Given the description of an element on the screen output the (x, y) to click on. 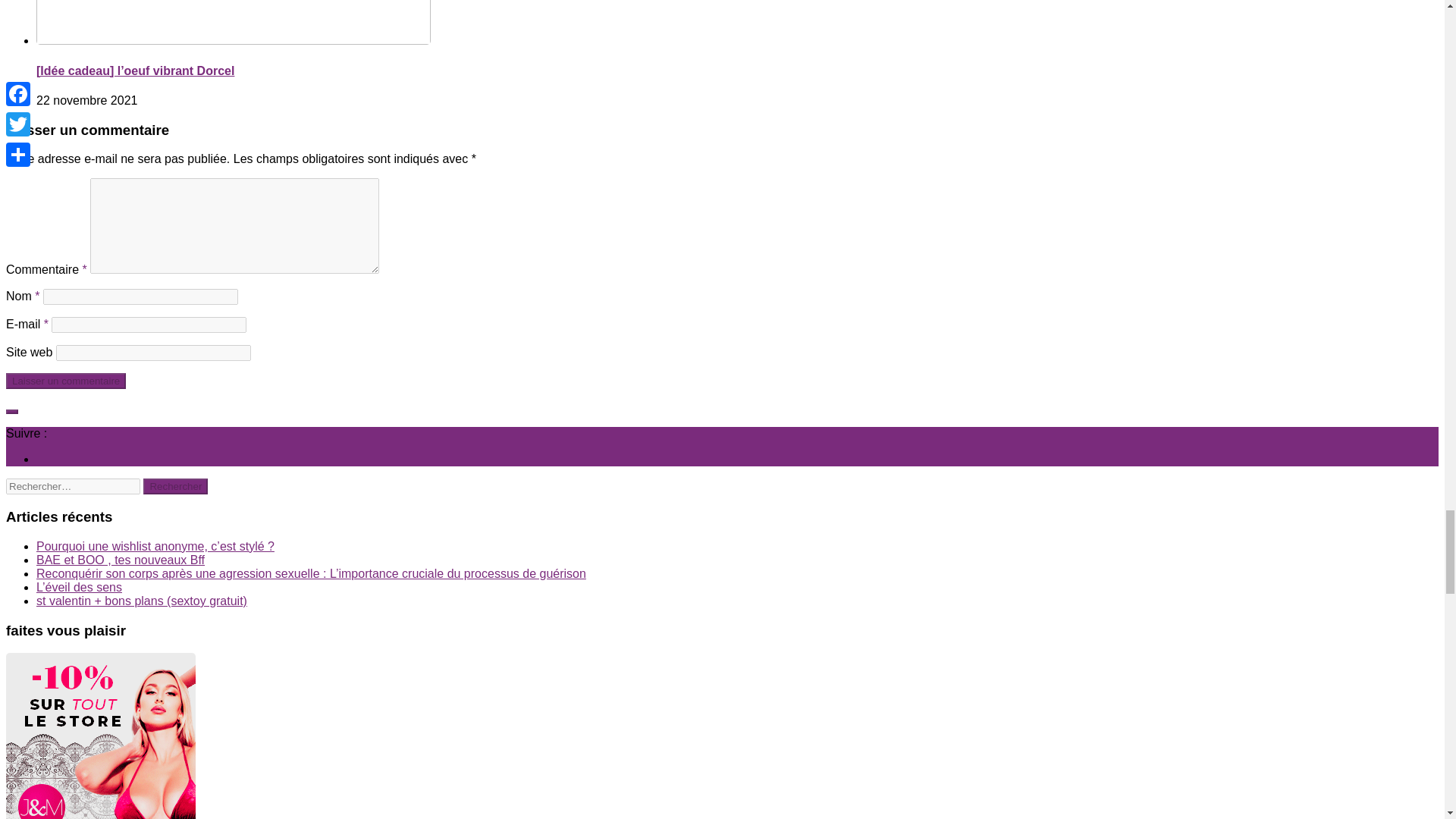
Rechercher (175, 486)
Rechercher (175, 486)
Laisser un commentaire (65, 381)
